Given the description of an element on the screen output the (x, y) to click on. 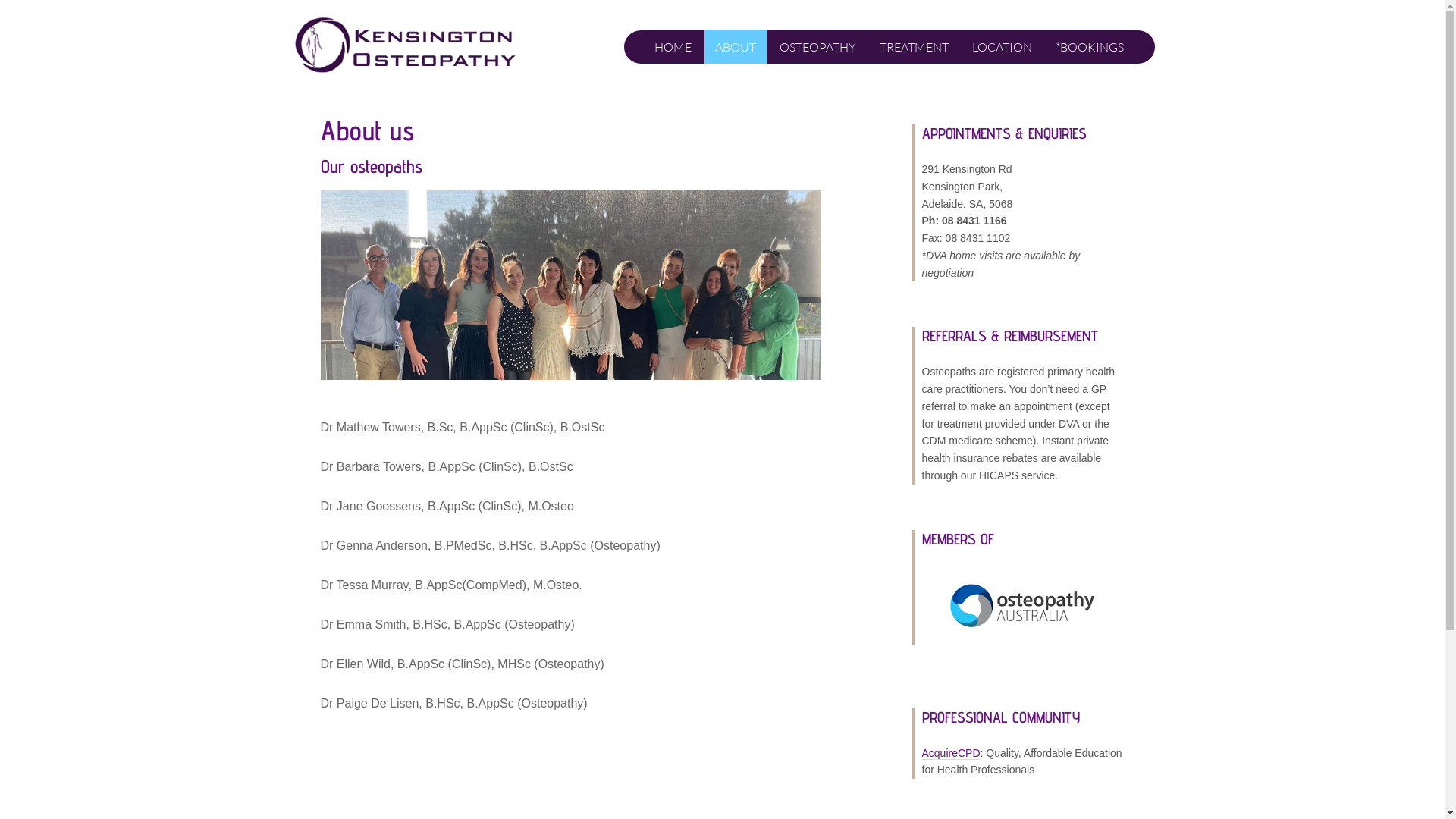
australian-osteopathic-association Element type: hover (1022, 604)
OSTEOPATHY Element type: text (817, 46)
AcquireCPD Element type: text (951, 752)
TREATMENT Element type: text (914, 46)
KENSINGTON OSTEOPATHY | ADELAIDE OSTEOPATHS Element type: text (410, 44)
*BOOKINGS Element type: text (1089, 46)
HOME Element type: text (672, 46)
LOCATION Element type: text (1001, 46)
ABOUT Element type: text (735, 46)
